Given the description of an element on the screen output the (x, y) to click on. 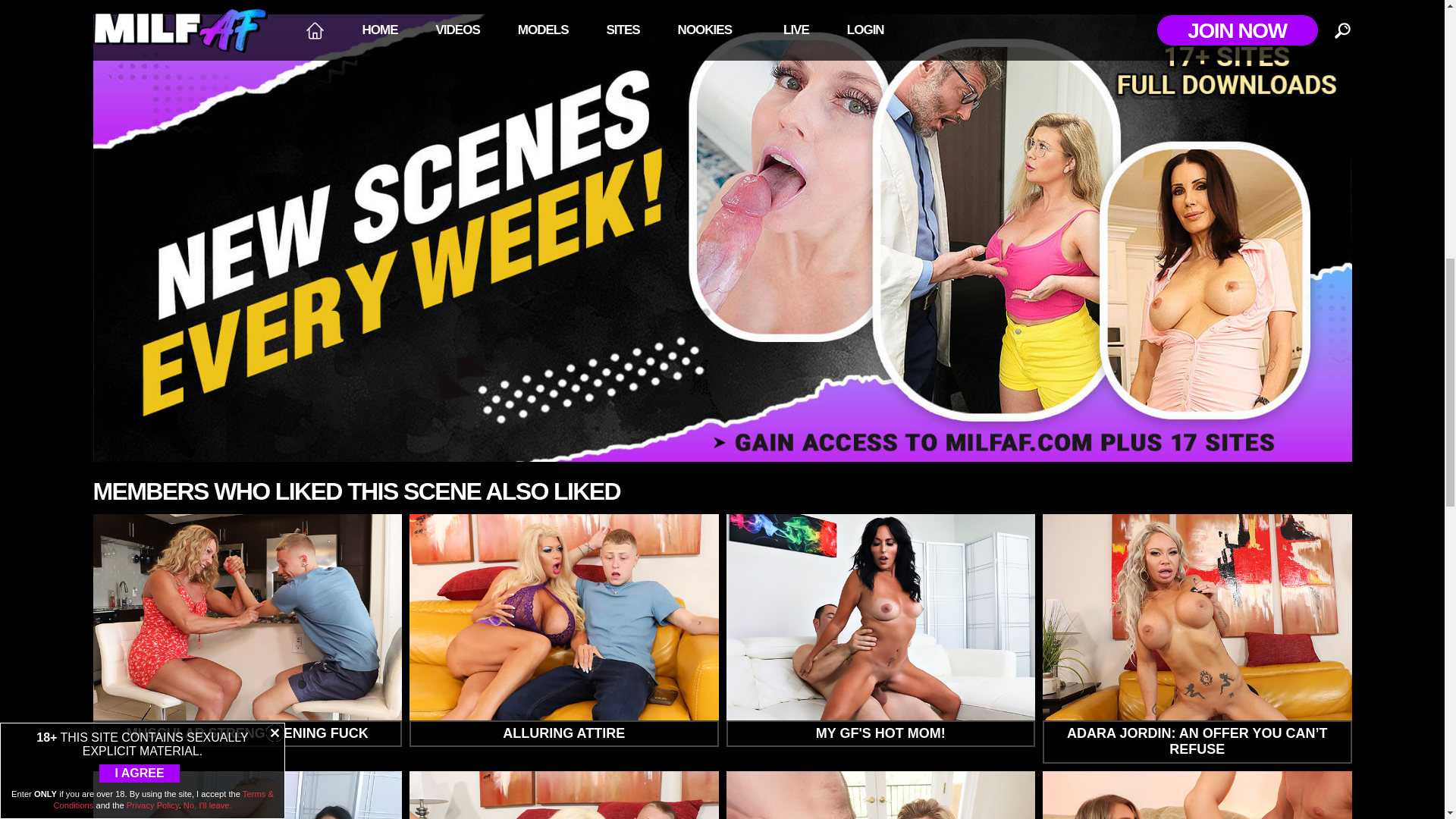
FUCKIN TAXES - ANDI AVALON (1197, 795)
MUSCULAR STRENGTHENING FUCK (247, 630)
ALLURING ATTIRE (564, 630)
Watch MUSCULAR STRENGTHENING FUCK at milfAF (247, 630)
MY GF'S HOT MOM! (880, 630)
Watch THE WIFI PASSWORD - ANDIE ANDERSON at milfAF (880, 795)
FRIENDS WITH BENEFITS - PIPER PRESS (247, 795)
TAYLOR VIXXEN: HOUSEWIFE HOOKUP (564, 795)
Watch FRIENDS WITH BENEFITS - PIPER PRESS at milfAF (247, 795)
Watch FUCKIN TAXES - ANDI AVALON at milfAF (1197, 795)
Watch ALLURING ATTIRE at milfAF (564, 630)
Watch TAYLOR VIXXEN: HOUSEWIFE HOOKUP at milfAF (564, 795)
THE WIFI PASSWORD - ANDIE ANDERSON (880, 795)
